Given the description of an element on the screen output the (x, y) to click on. 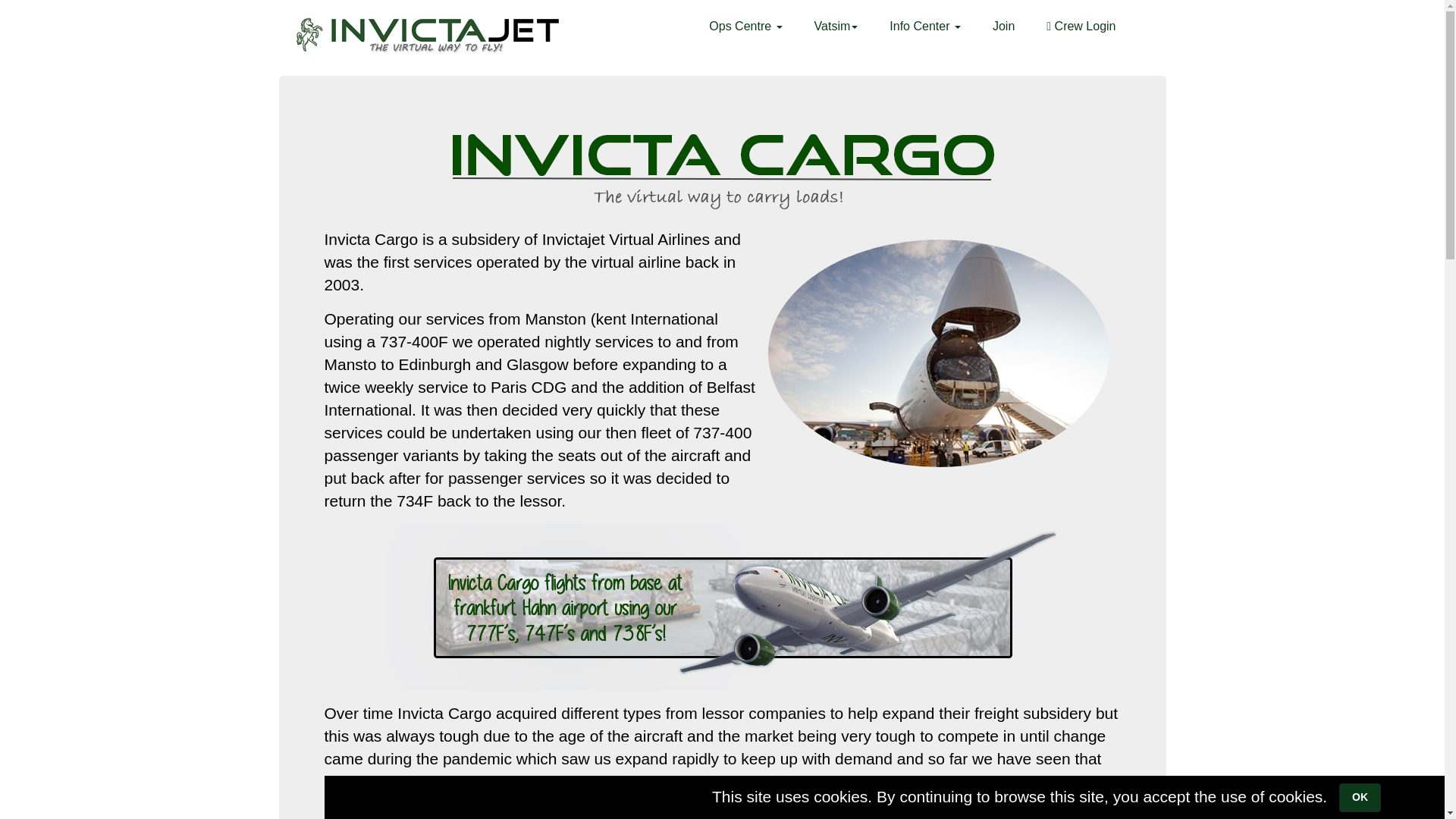
Crew Login (1080, 26)
Ops Centre (745, 26)
Vatsim (836, 26)
Info Center (925, 26)
